Given the description of an element on the screen output the (x, y) to click on. 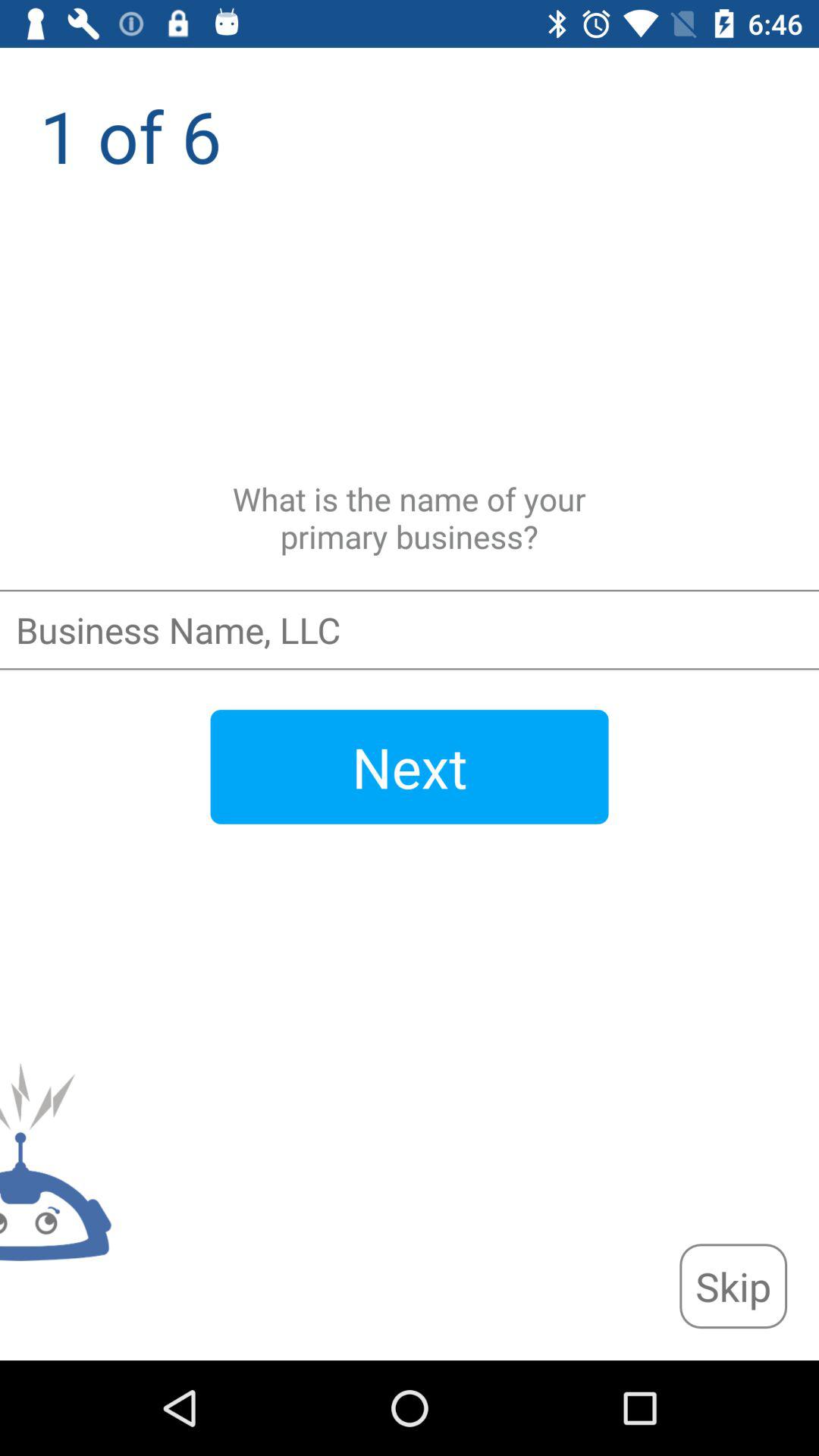
press the button at the bottom right corner (733, 1285)
